Given the description of an element on the screen output the (x, y) to click on. 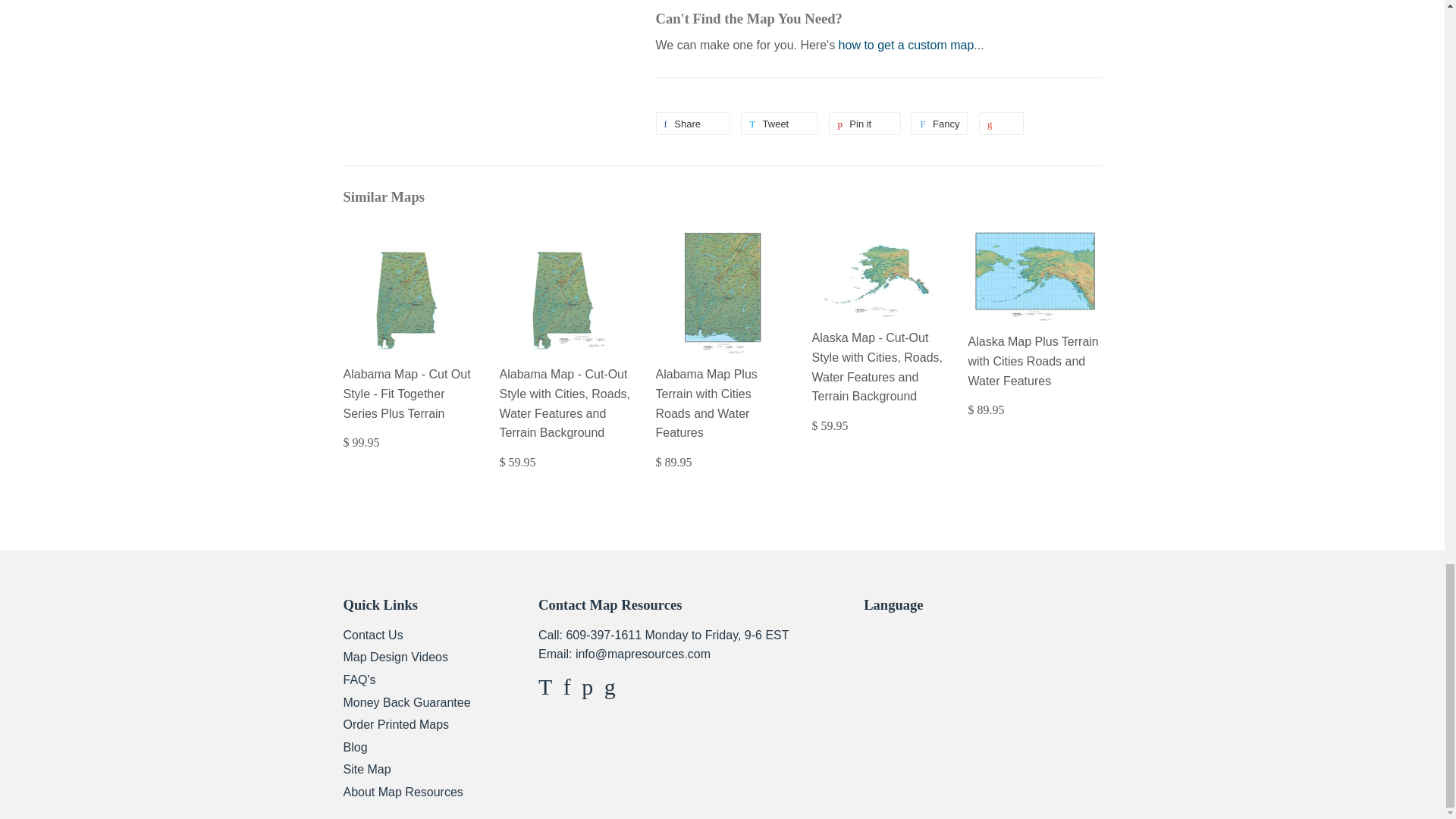
Map Resources on Twitter (544, 689)
